Given the description of an element on the screen output the (x, y) to click on. 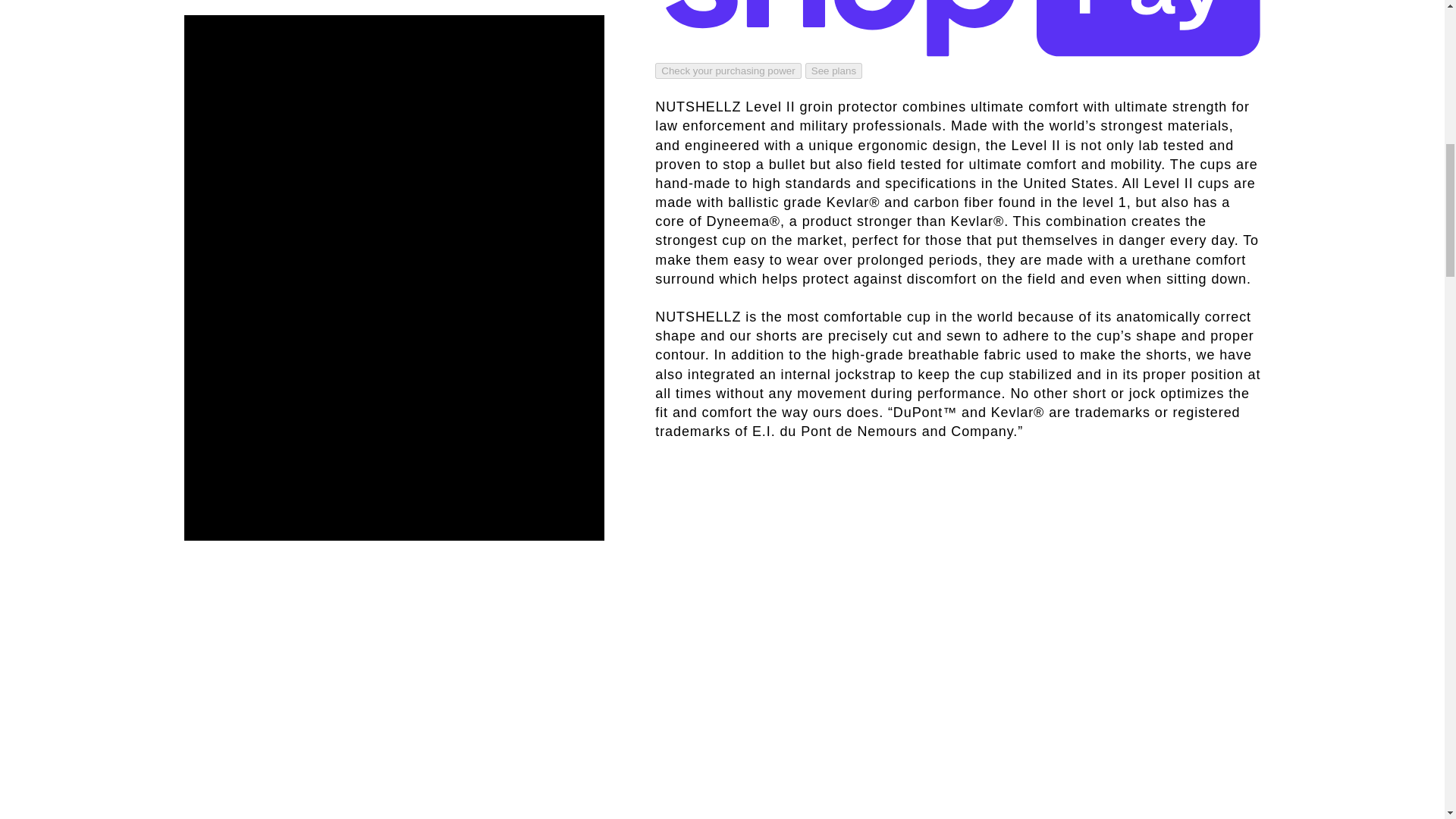
YouTube video player (867, 579)
YouTube video player (867, 771)
